Given the description of an element on the screen output the (x, y) to click on. 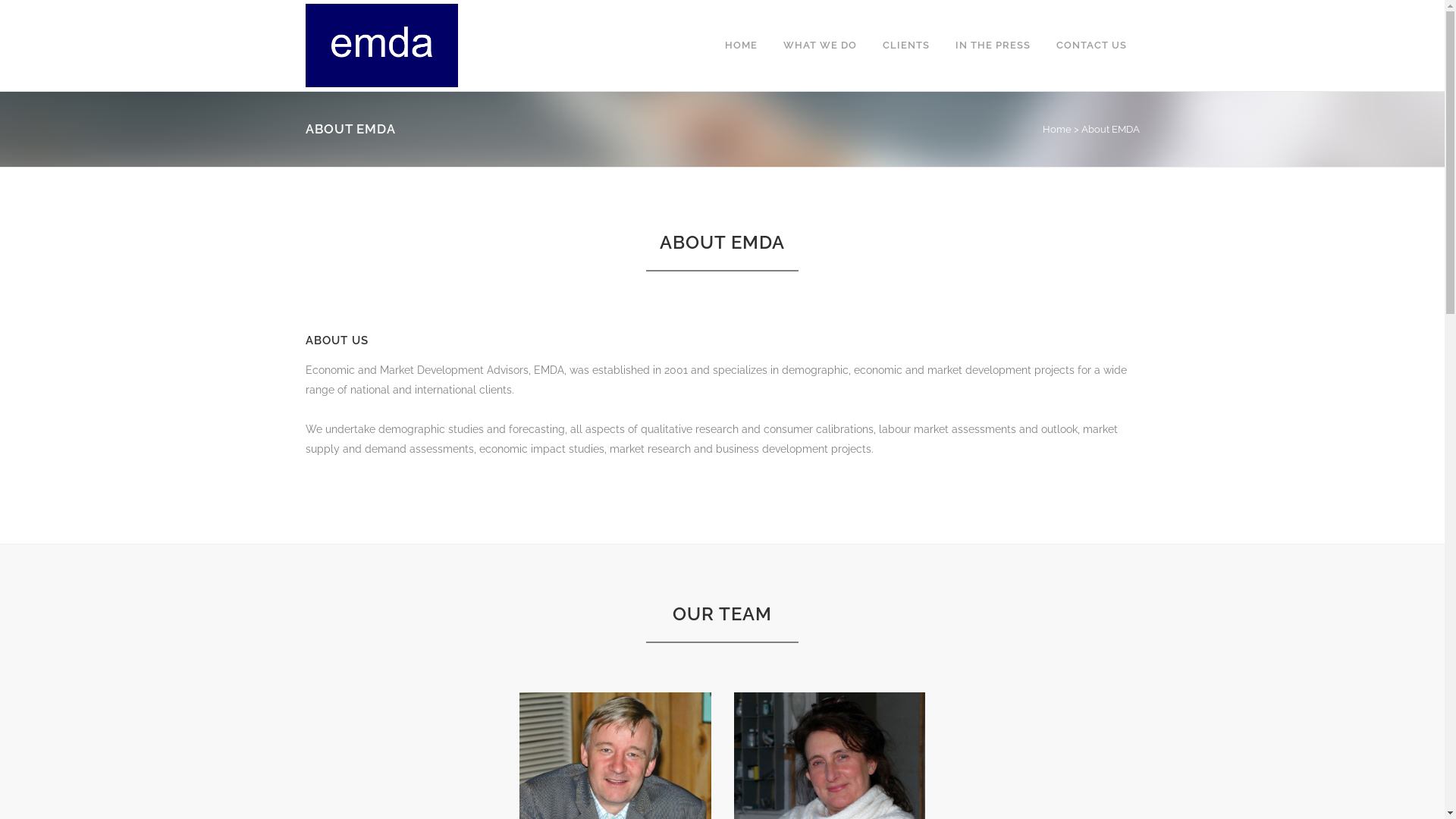
ABC Radio Interview 20 July 2015 Element type: text (622, 652)
Haters at work and how to deal with them Element type: text (622, 517)
WHAT WE DO Element type: text (819, 45)
CLIENTS Element type: text (905, 45)
Home Element type: text (1055, 128)
Preserving history one stone at a time Element type: text (622, 589)
GBM technology | Camperdown, Element type: text (742, 776)
CONTACT US Element type: text (1091, 45)
HOME Element type: text (740, 45)
IN THE PRESS Element type: text (991, 45)
